Given the description of an element on the screen output the (x, y) to click on. 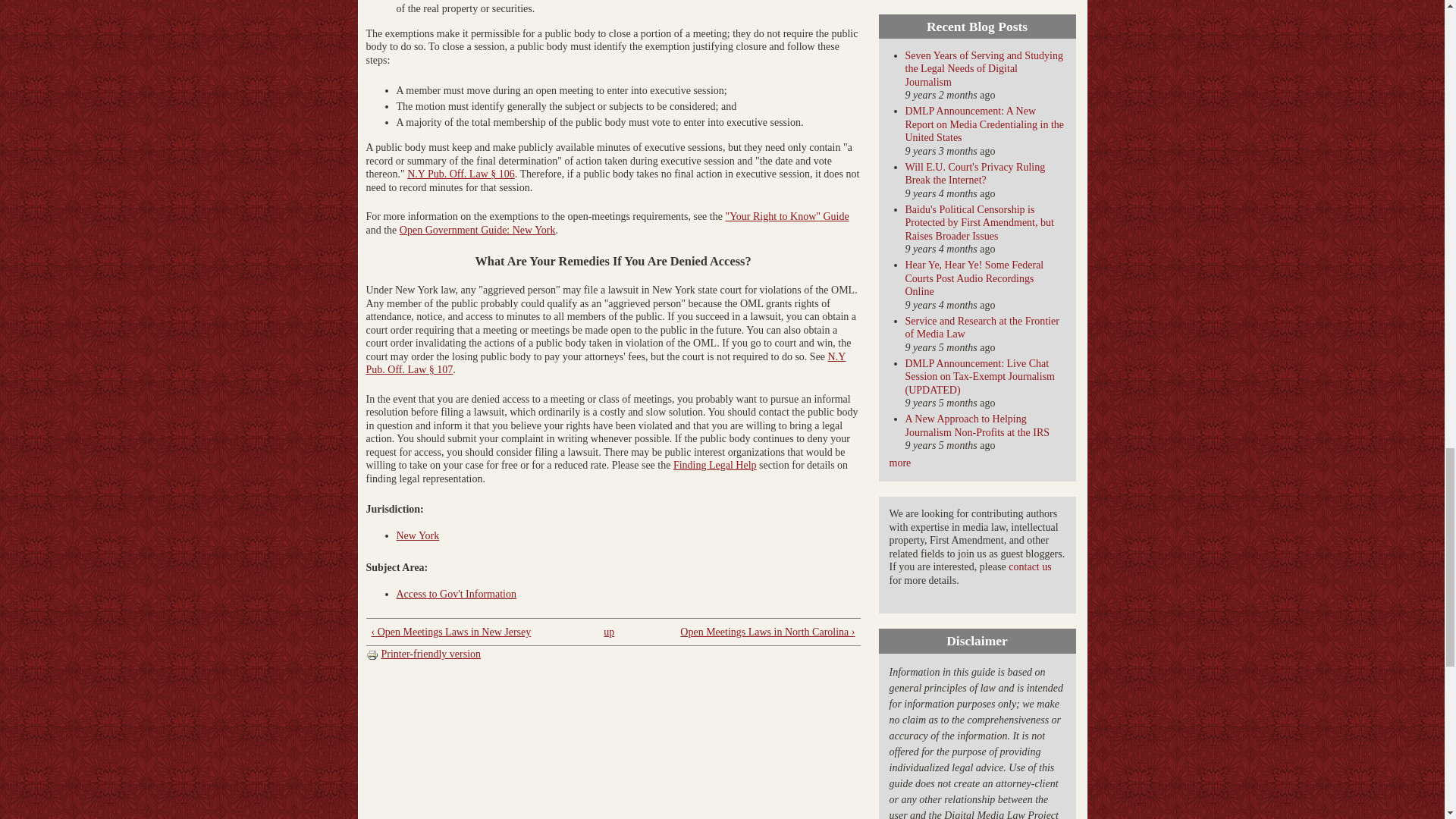
"Your Right to Know" Guide (786, 215)
Access to Gov't Information (455, 593)
New York (417, 535)
Finding Legal Help (714, 464)
up (609, 631)
Open Government Guide: New York (477, 229)
Printer-friendly version (422, 654)
